Given the description of an element on the screen output the (x, y) to click on. 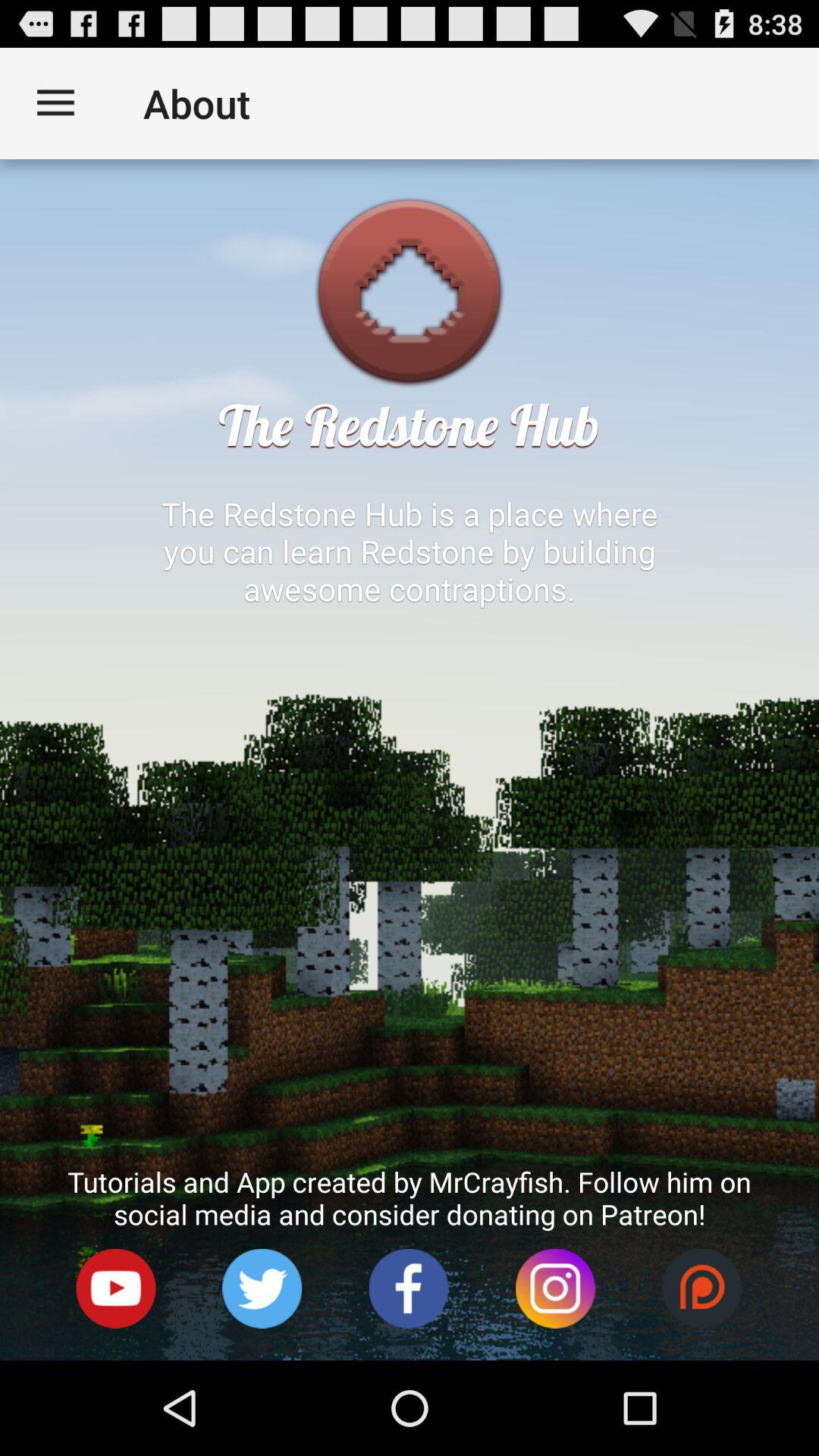
choose item next to the about (55, 103)
